Given the description of an element on the screen output the (x, y) to click on. 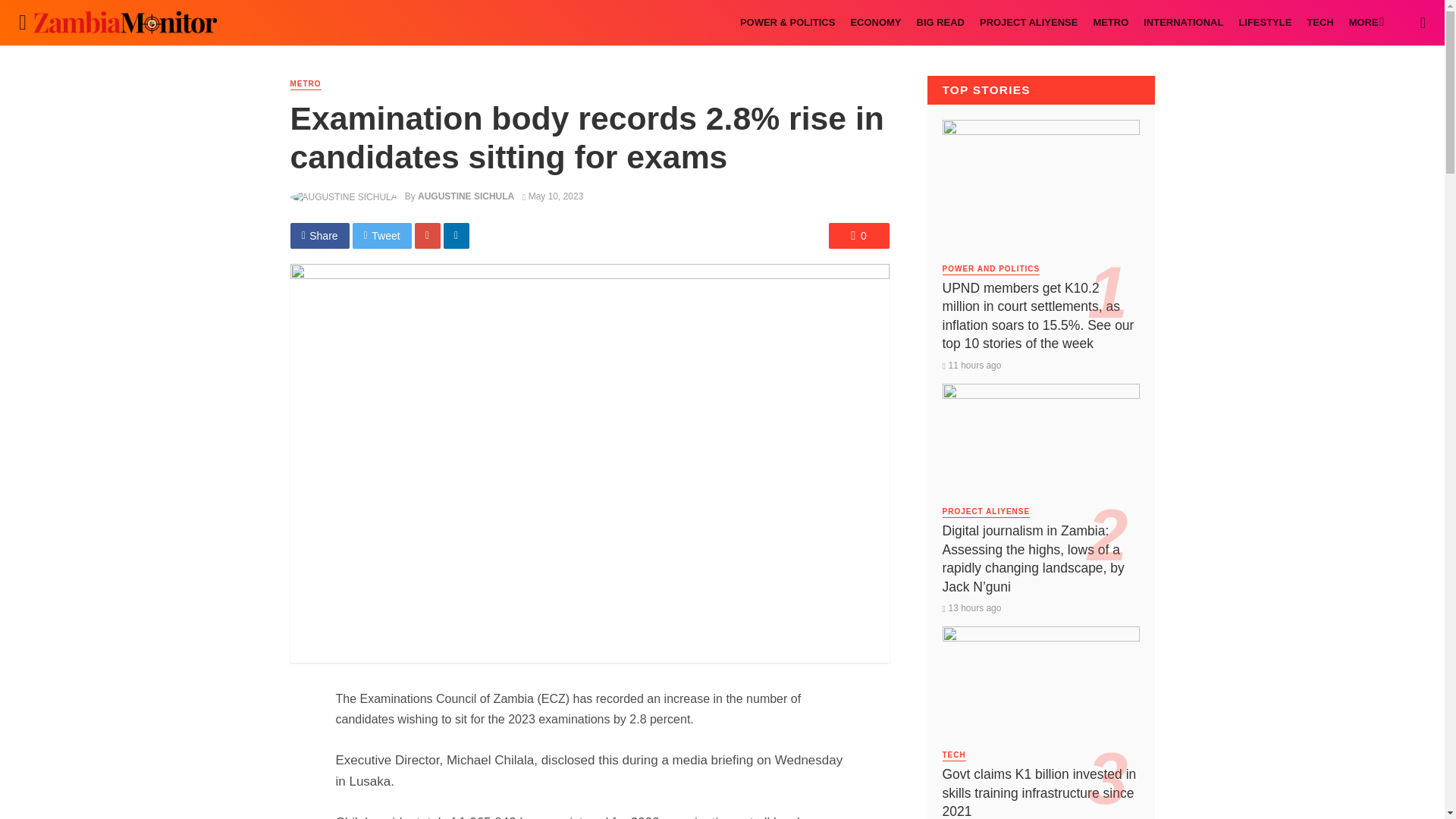
ECONOMY (875, 22)
METRO (1109, 22)
INTERNATIONAL (1182, 22)
PROJECT ALIYENSE (1028, 22)
LIFESTYLE (1264, 22)
BIG READ (939, 22)
TECH (1319, 22)
